Given the description of an element on the screen output the (x, y) to click on. 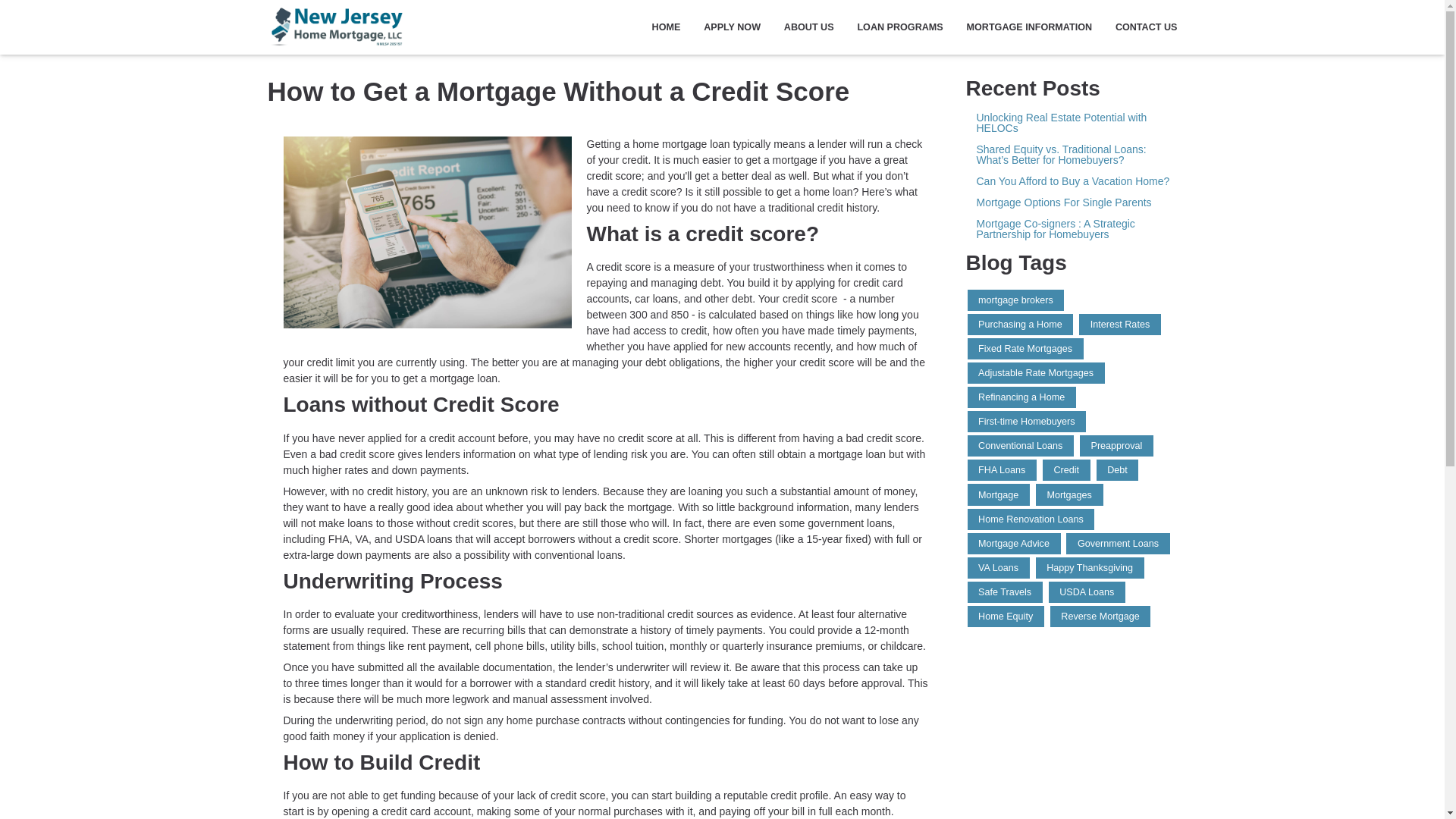
First-time Homebuyers (1027, 421)
ABOUT US (808, 27)
Mortgage Options For Single Parents (1071, 202)
LOAN PROGRAMS (900, 27)
Interest Rates (1119, 323)
Preapproval (1116, 445)
Mortgage Co-signers : A Strategic Partnership for Homebuyers (1071, 228)
MORTGAGE INFORMATION (1029, 27)
Conventional Loans (1021, 445)
APPLY NOW (733, 27)
CONTACT US (1139, 27)
Can You Afford to Buy a Vacation Home? (1071, 181)
mortgage brokers (1016, 300)
Purchasing a Home (1021, 323)
Credit (1066, 469)
